Given the description of an element on the screen output the (x, y) to click on. 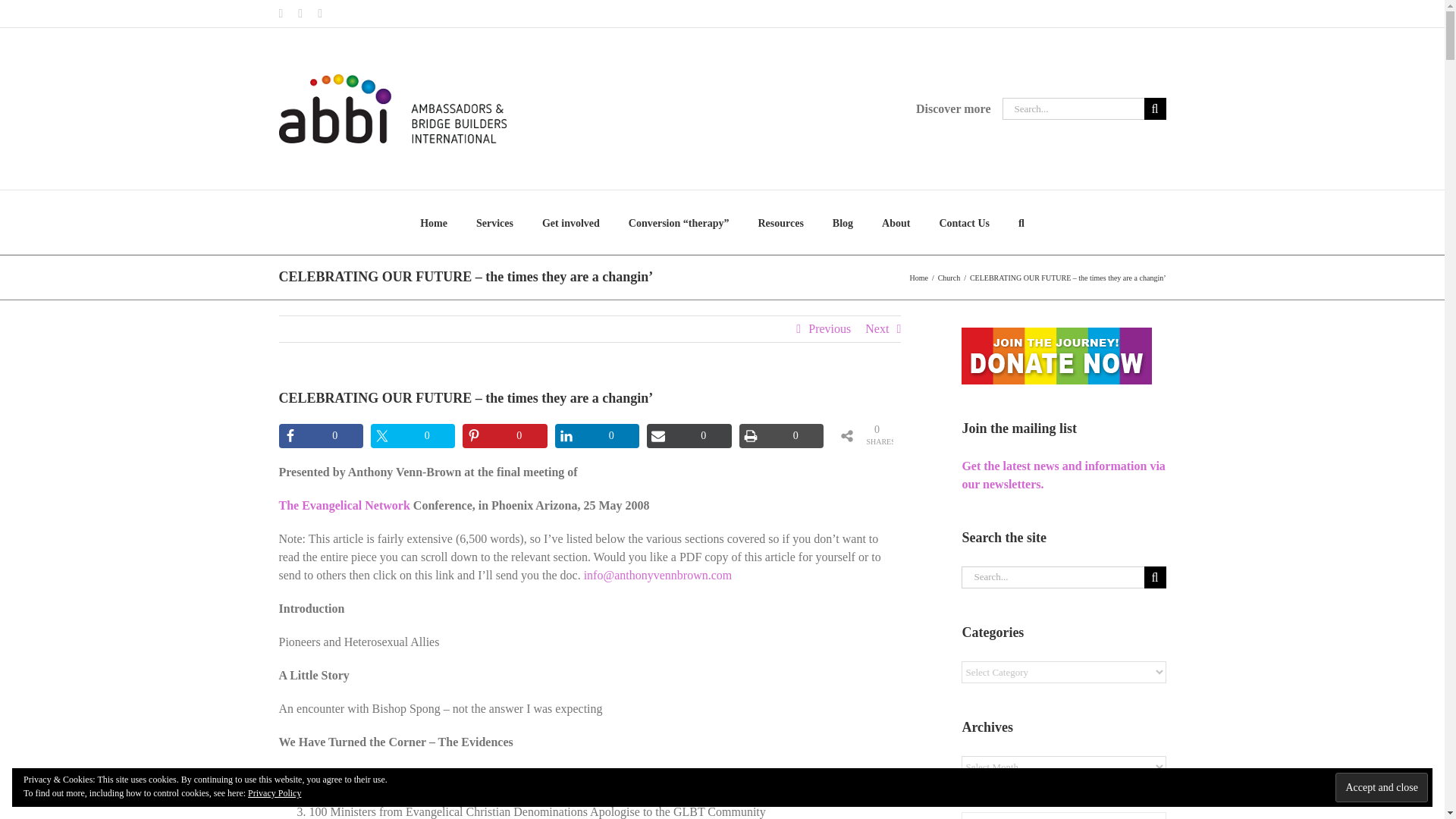
Share on LinkedIn (596, 435)
Print this Page (781, 435)
Share on Twitter (412, 435)
Accept and close (1381, 787)
0 (688, 435)
Get involved (570, 221)
Share on Pinterest (505, 435)
Share via Email (688, 435)
Share on Facebook (320, 435)
